Given the description of an element on the screen output the (x, y) to click on. 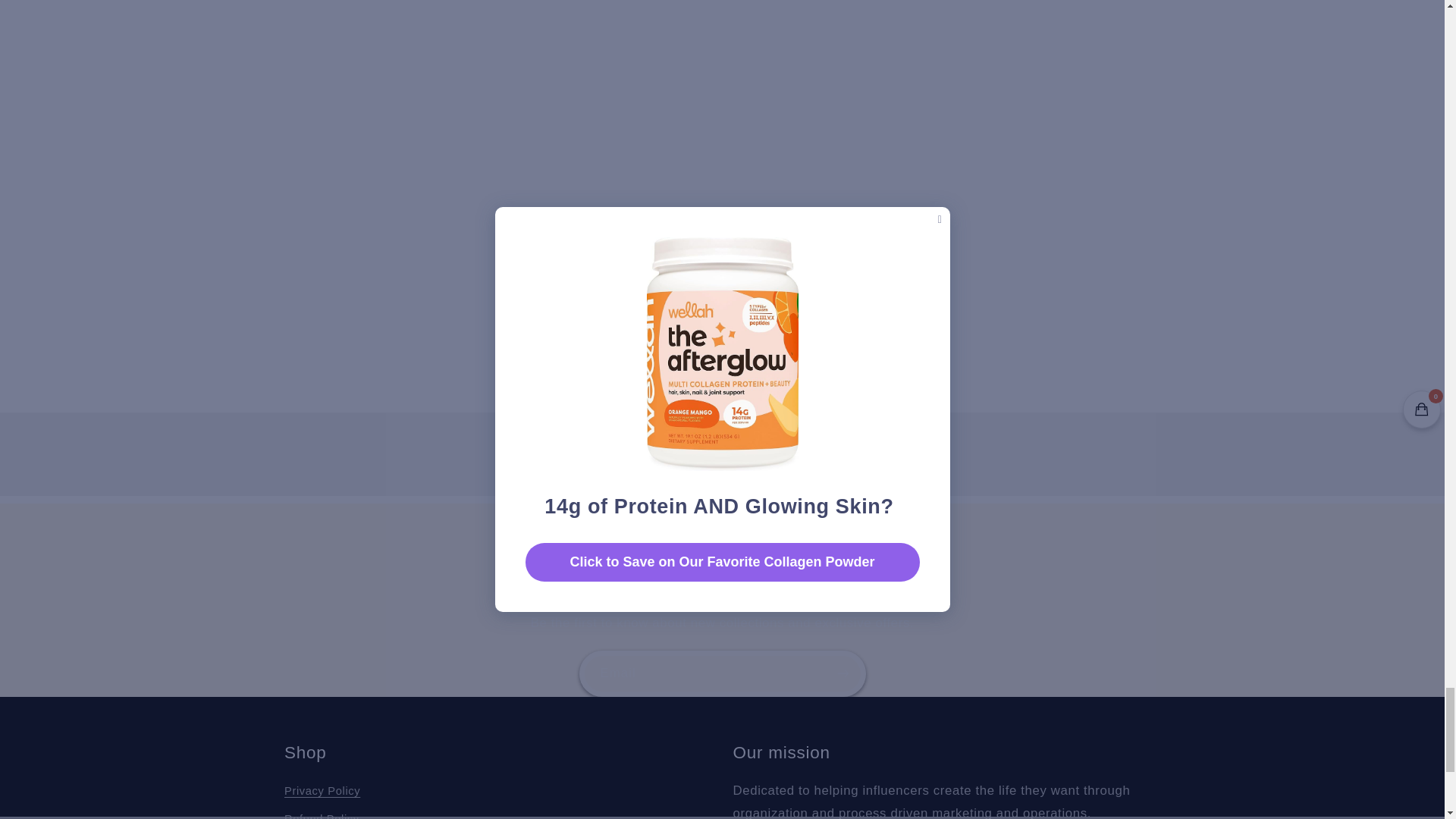
Refund Policy (321, 812)
Privacy Policy (321, 793)
